Given the description of an element on the screen output the (x, y) to click on. 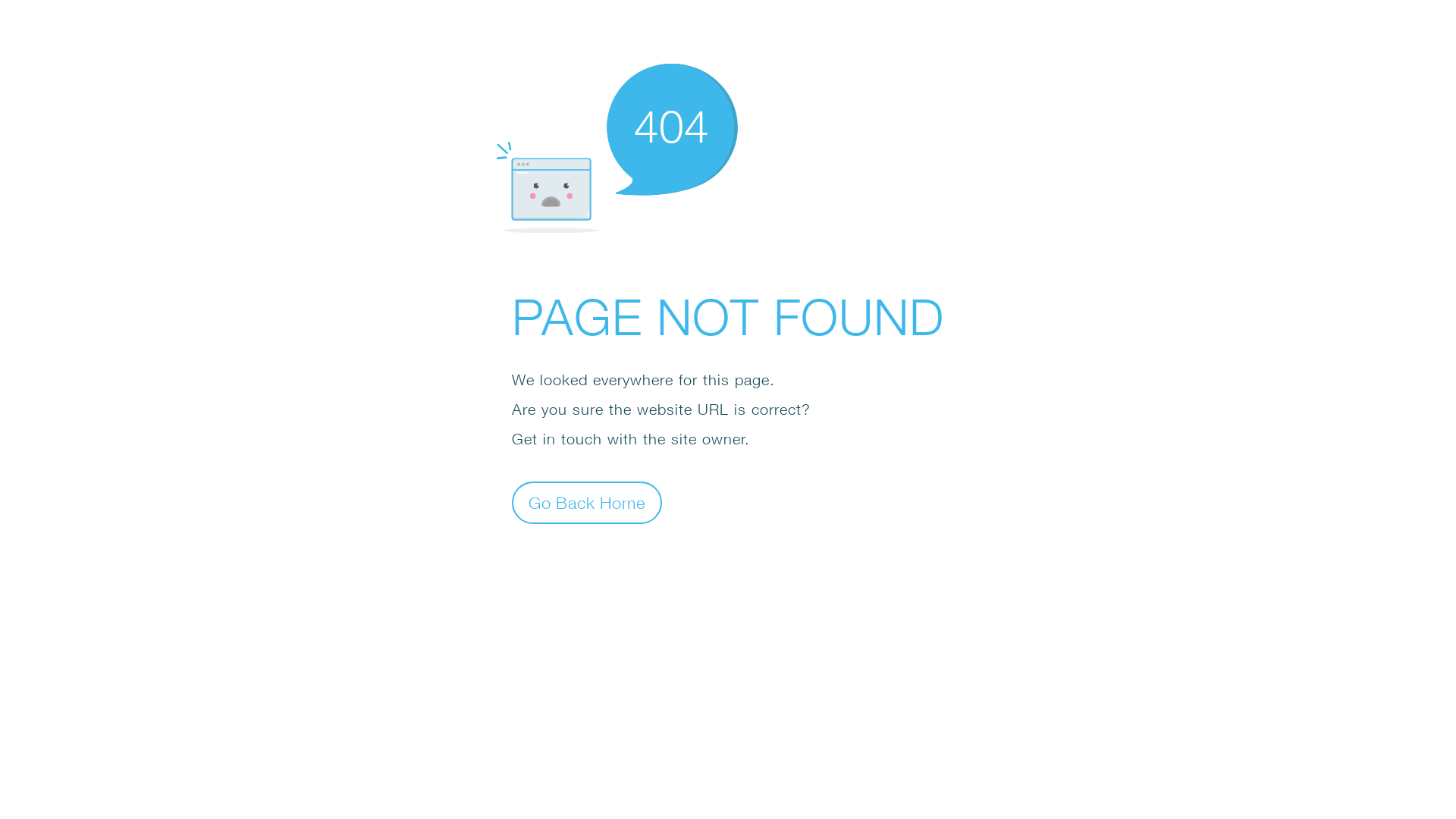
Go Back Home Element type: text (586, 502)
